Given the description of an element on the screen output the (x, y) to click on. 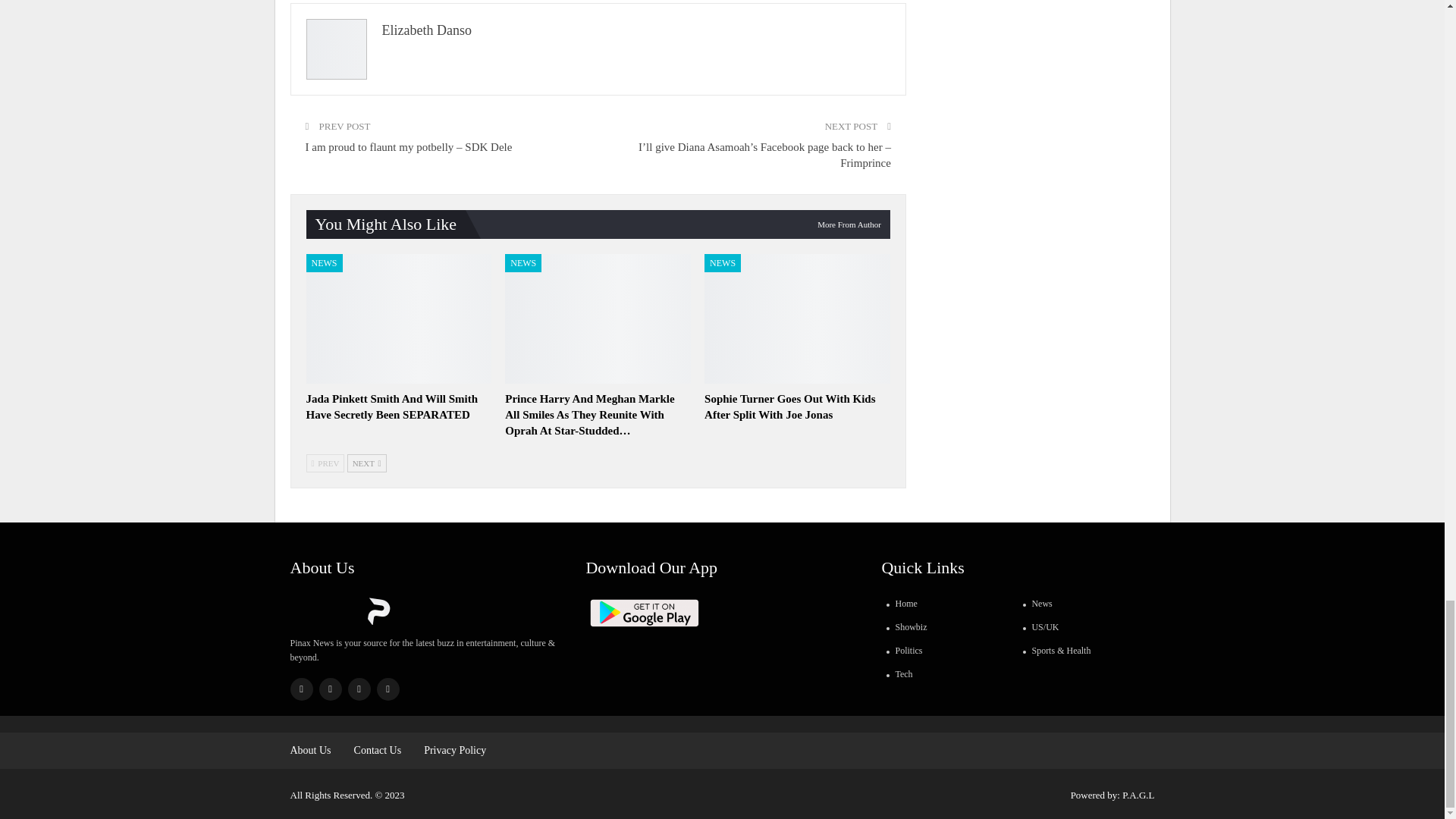
Sophie Turner Goes Out With Kids After Split With Joe Jonas (790, 406)
Sophie Turner Goes Out With Kids After Split With Joe Jonas (796, 318)
Next (367, 463)
Previous (325, 463)
